Given the description of an element on the screen output the (x, y) to click on. 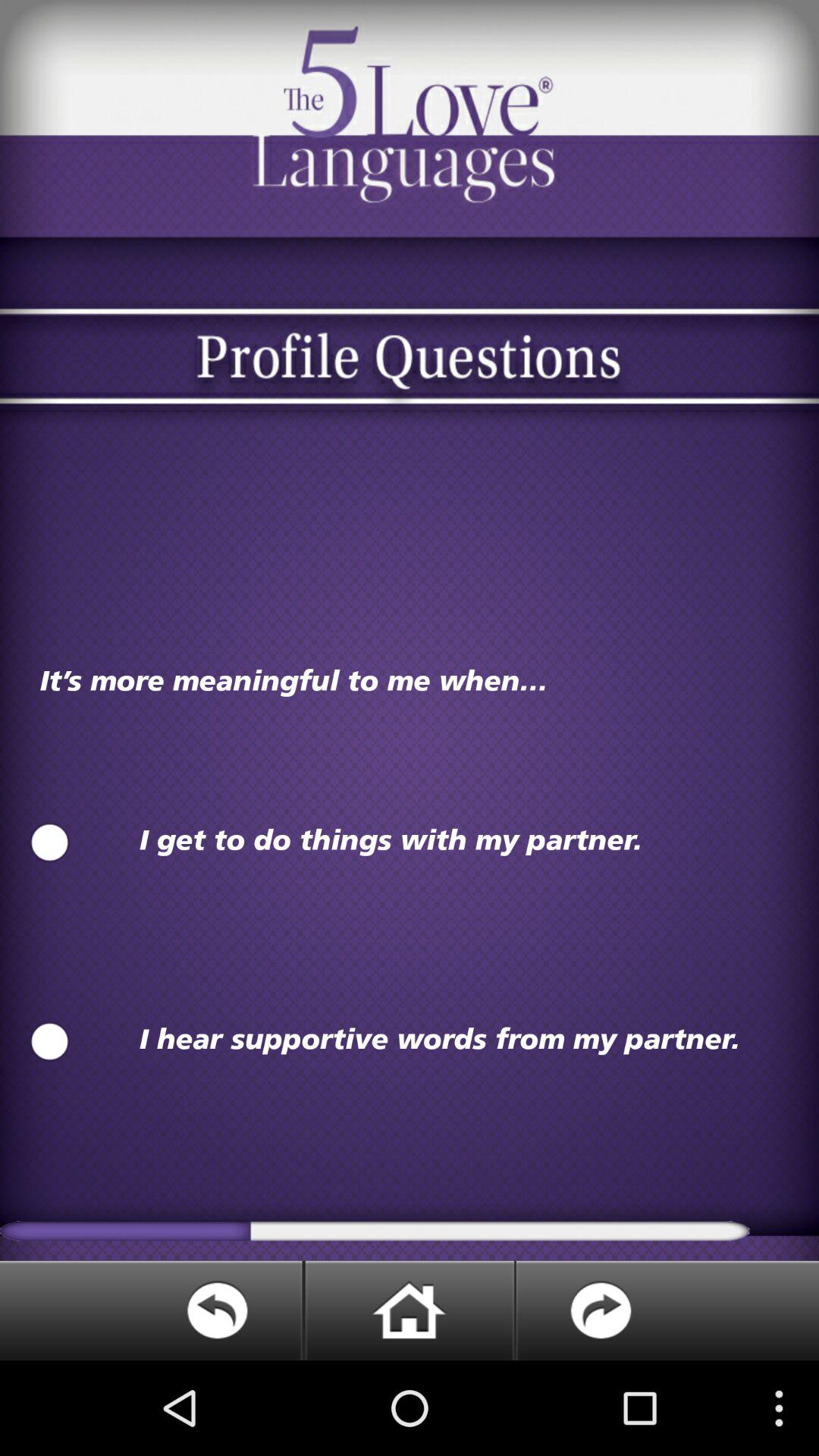
ok (49, 842)
